Given the description of an element on the screen output the (x, y) to click on. 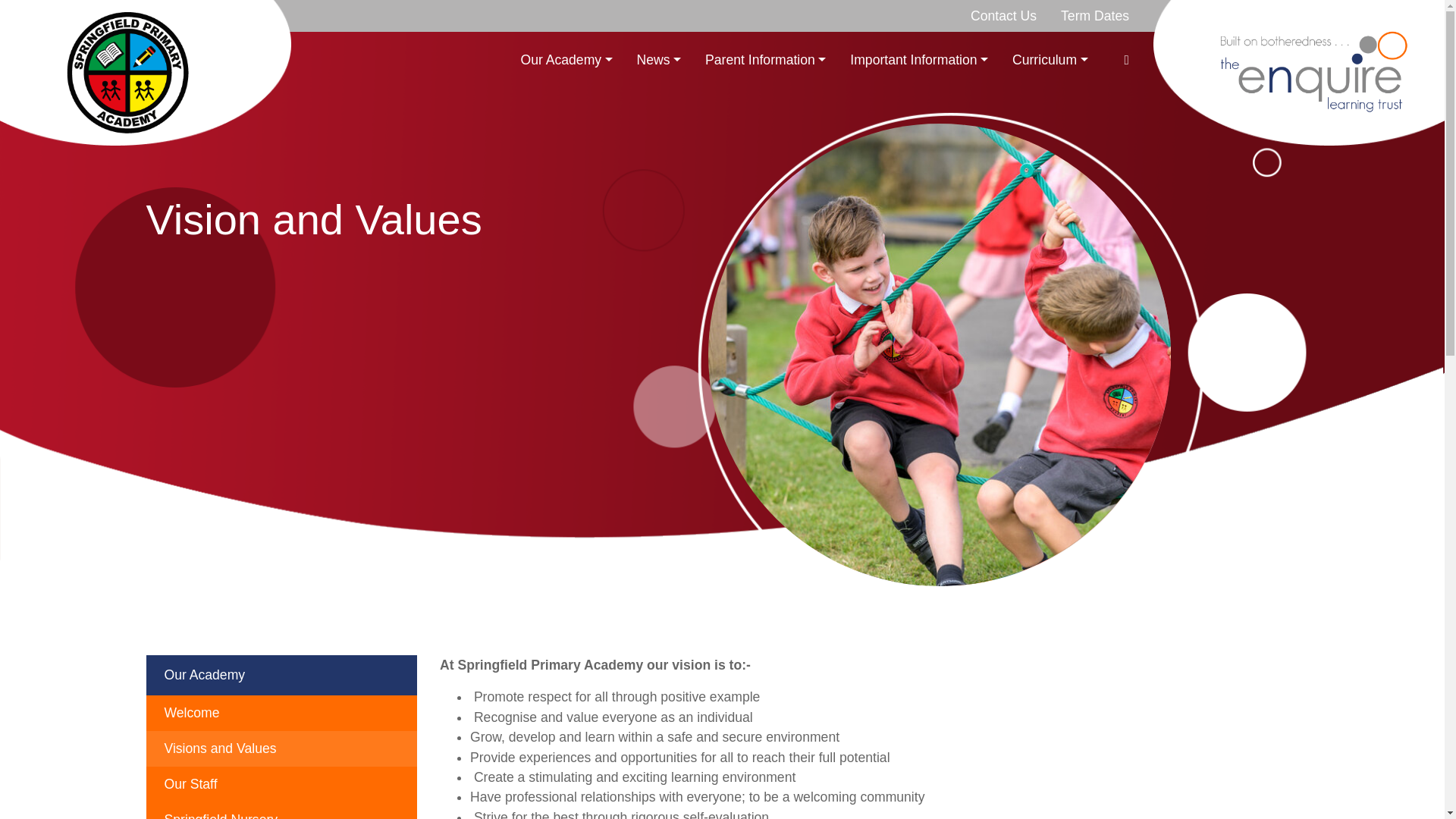
Our Academy (566, 60)
Important Information (919, 60)
X (1126, 60)
News (658, 60)
Term Dates (1094, 15)
Parent Information (765, 60)
Contact Us (1003, 15)
